Given the description of an element on the screen output the (x, y) to click on. 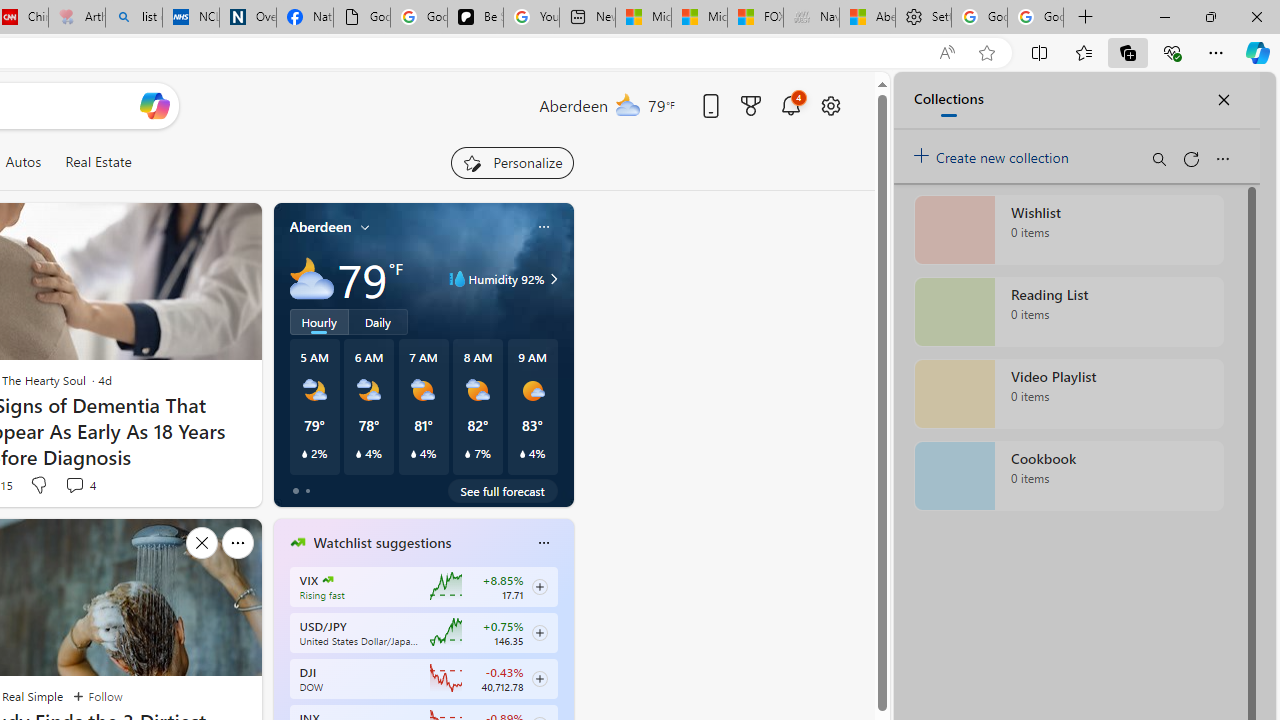
FOX News - MSN (755, 17)
Mostly cloudy (311, 278)
Class: follow-button  m (539, 678)
previous (283, 670)
next (563, 670)
Arthritis: Ask Health Professionals - Sleeping (76, 17)
